Given the description of an element on the screen output the (x, y) to click on. 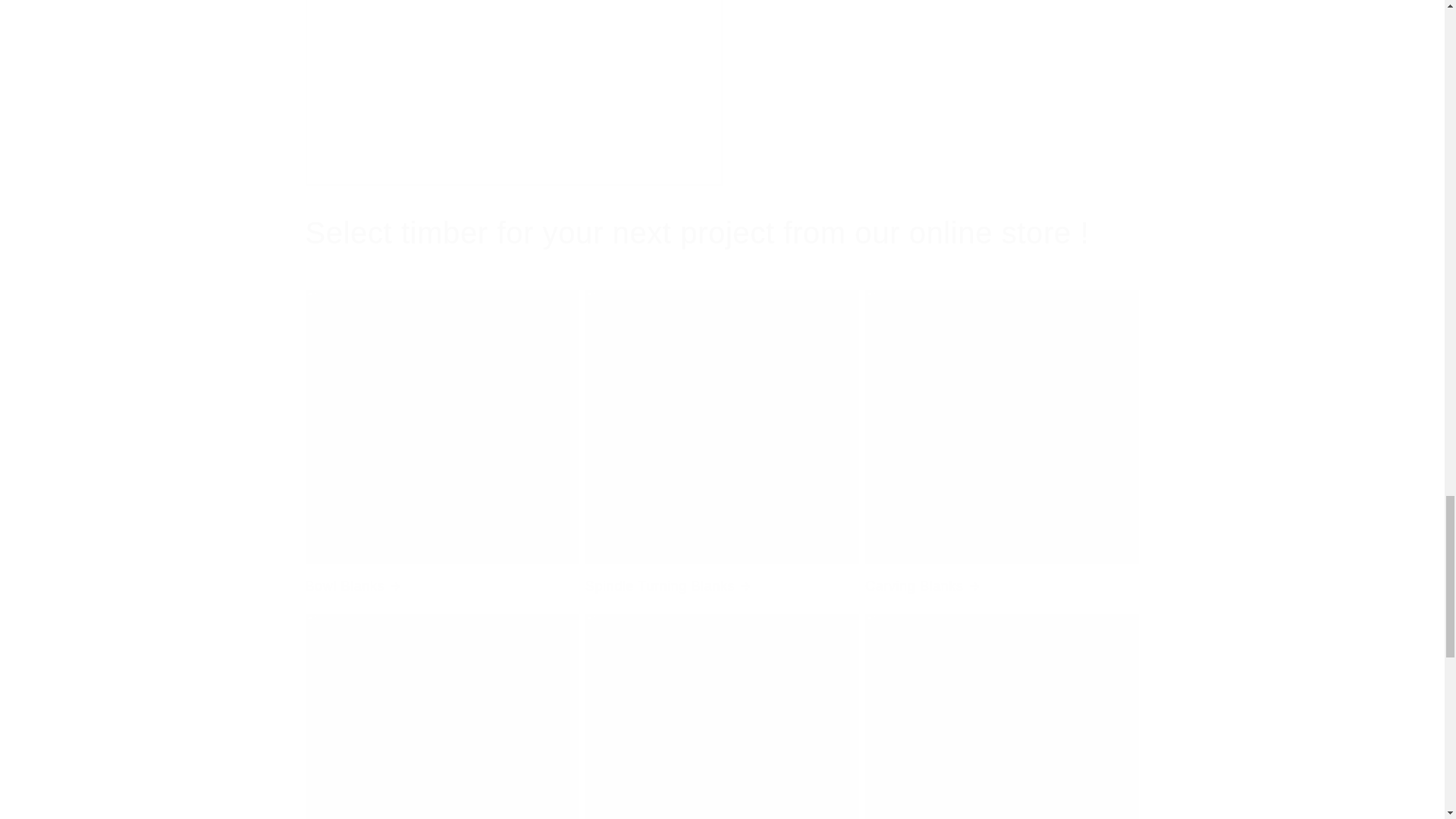
Small Slabs (441, 716)
Handle Blocks Stabilized (722, 716)
River Board Sets (1001, 716)
Select timber for your next project from our online store ! (696, 232)
